Given the description of an element on the screen output the (x, y) to click on. 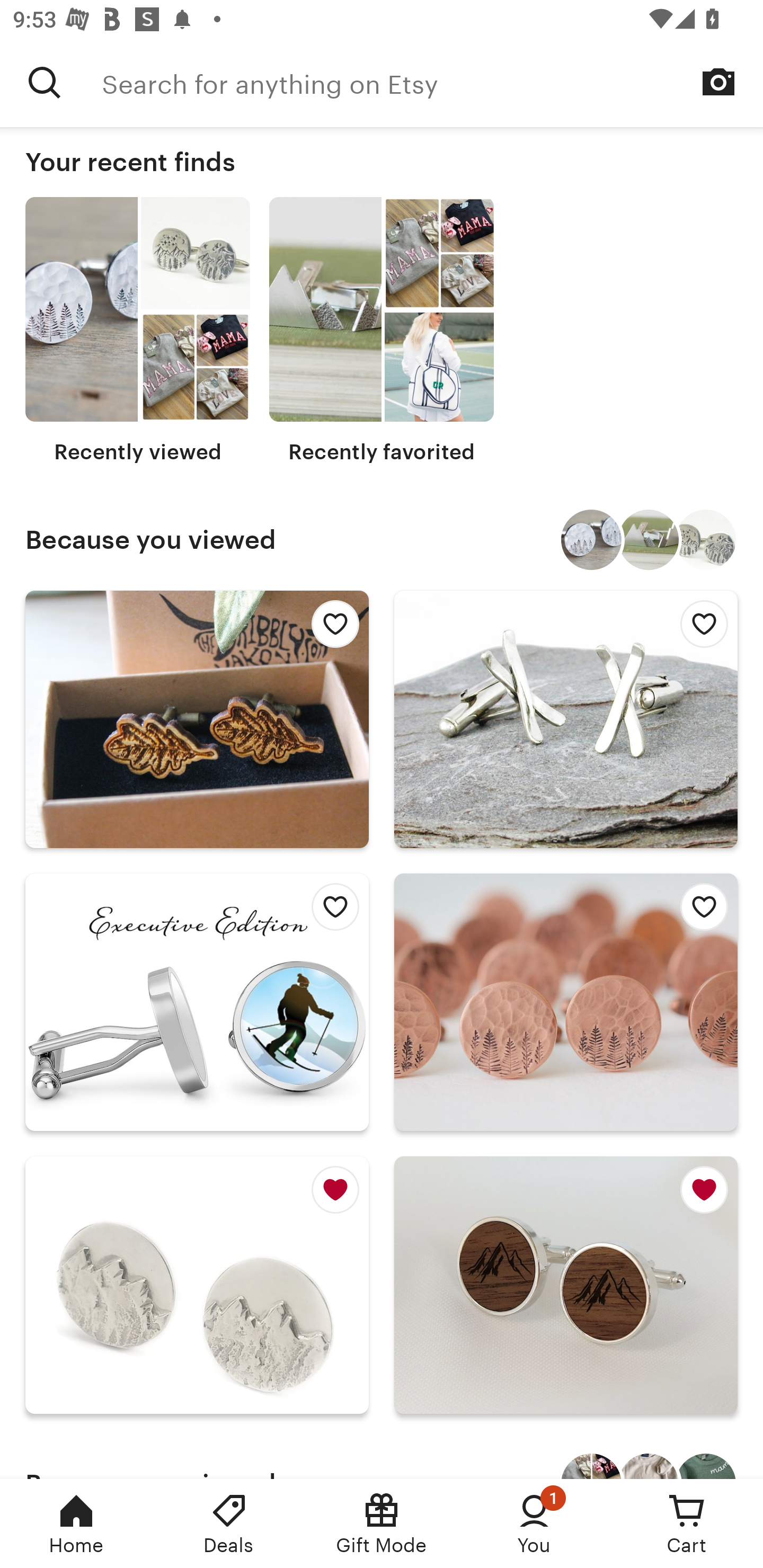
Search for anything on Etsy (44, 82)
Search by image (718, 81)
Search for anything on Etsy (432, 82)
Recently viewed (137, 330)
Recently favorited (381, 330)
Deals (228, 1523)
Gift Mode (381, 1523)
You, 1 new notification You (533, 1523)
Cart (686, 1523)
